Given the description of an element on the screen output the (x, y) to click on. 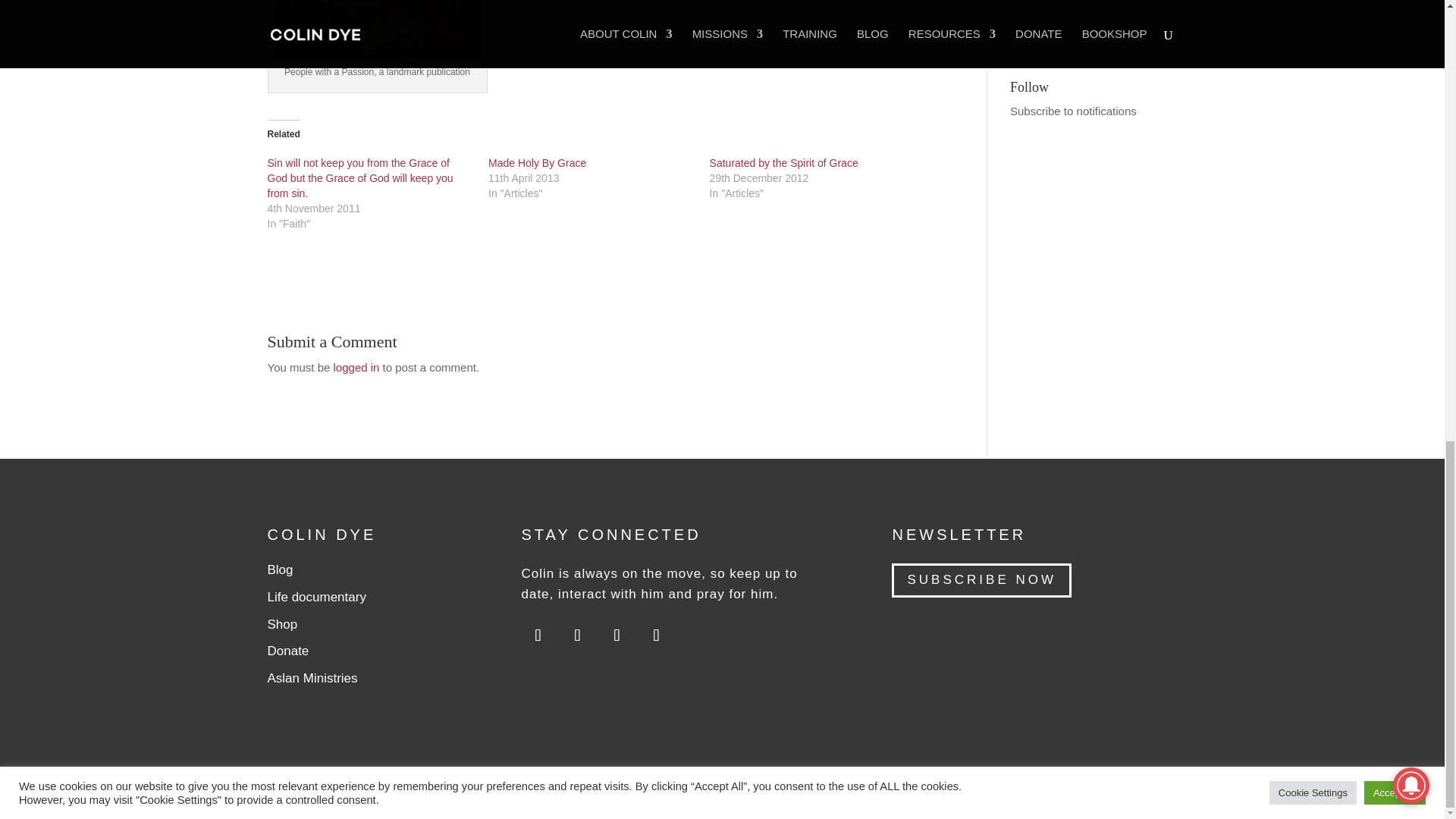
People with a Passion, a landmark publication (377, 28)
Follow on Facebook (655, 634)
Follow on Instagram (577, 634)
Made Holy By Grace (536, 162)
Saturated by the Spirit of Grace (784, 162)
Follow on Youtube (537, 634)
Follow on X (616, 634)
